Given the description of an element on the screen output the (x, y) to click on. 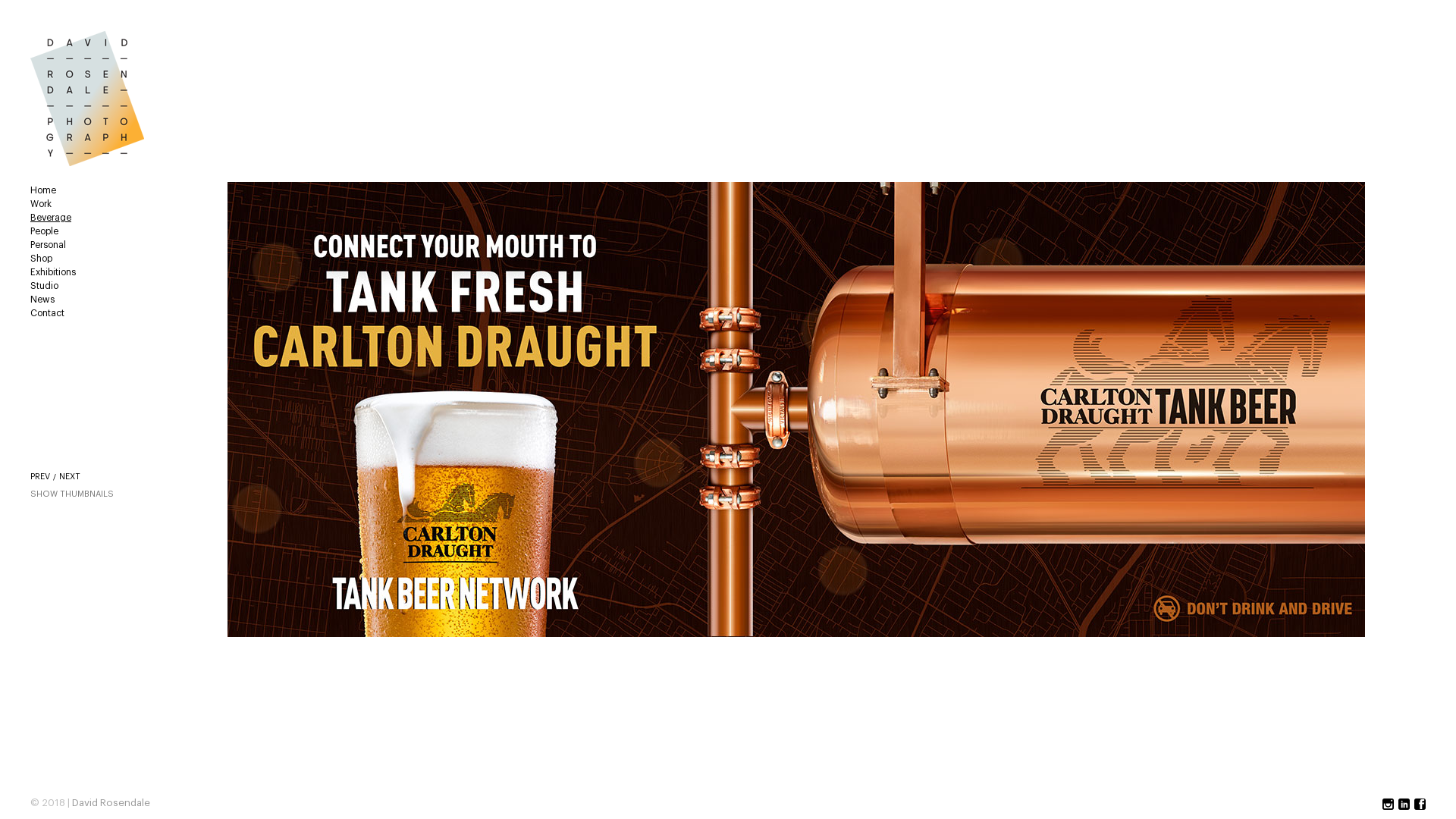
Contact Element type: text (87, 313)
Instagram Element type: hover (1387, 805)
Facebook Element type: hover (1419, 805)
News Element type: text (87, 299)
Studio Element type: text (87, 286)
PREV Element type: text (40, 476)
Personal Element type: text (87, 245)
NEXT Element type: text (69, 476)
Shop Element type: text (87, 258)
People Element type: text (87, 231)
SHOW THUMBNAILS Element type: text (71, 493)
Beverage Element type: text (87, 217)
Work Element type: text (87, 204)
LinkedIn Element type: hover (1403, 805)
Home Element type: text (87, 190)
Exhibitions Element type: text (87, 272)
David Rosendale Element type: text (111, 802)
